Given the description of an element on the screen output the (x, y) to click on. 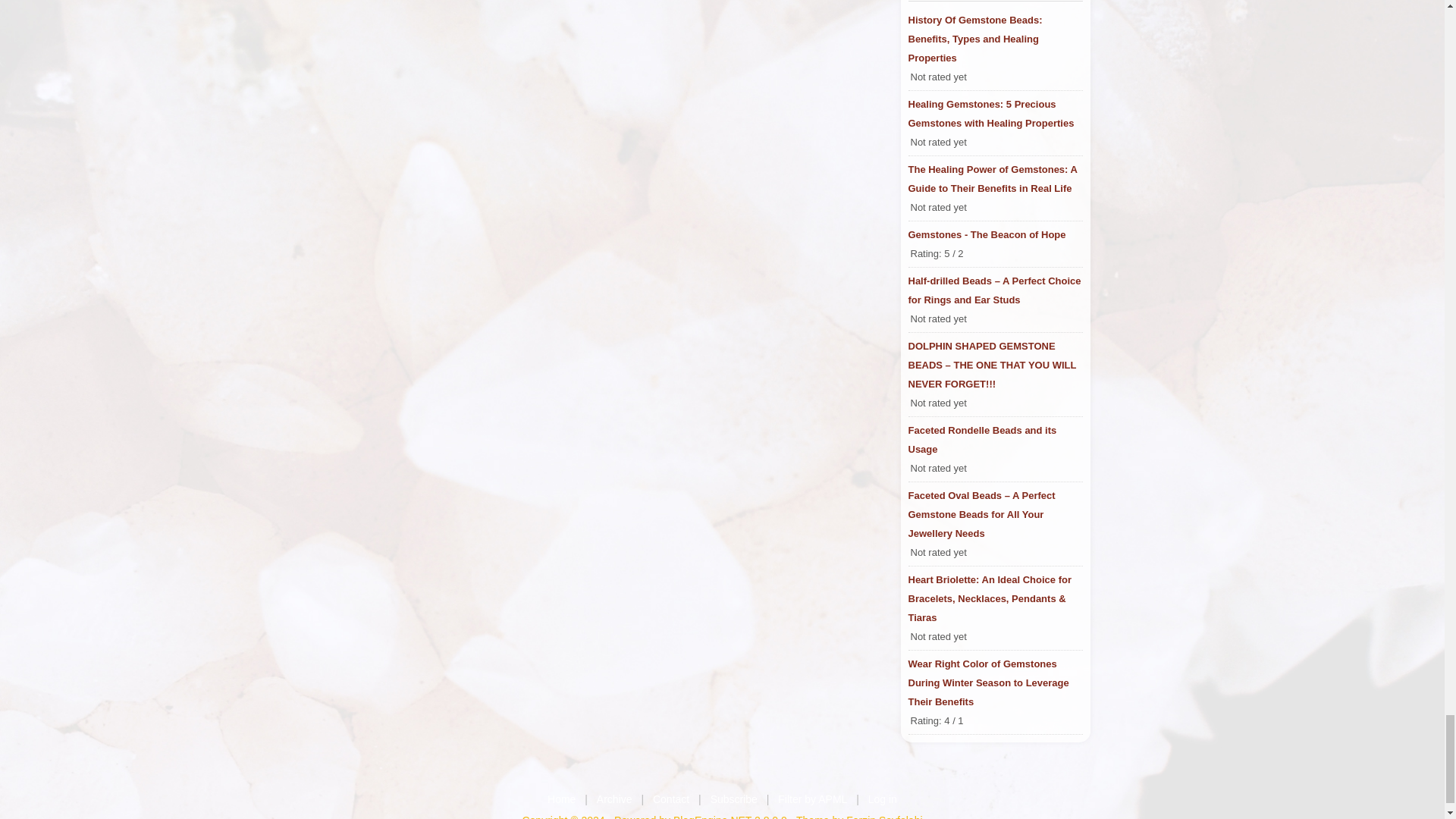
Farzin Seyfolahi (883, 816)
Archive (613, 799)
Filter by APML (812, 799)
Subscribe (733, 799)
Faceted Rondelle Beads and its Usage (995, 439)
Home (561, 799)
Log in (881, 799)
Gemstones - The Beacon of Hope (995, 234)
BlogEngine.NET (711, 816)
Contact (670, 799)
